Given the description of an element on the screen output the (x, y) to click on. 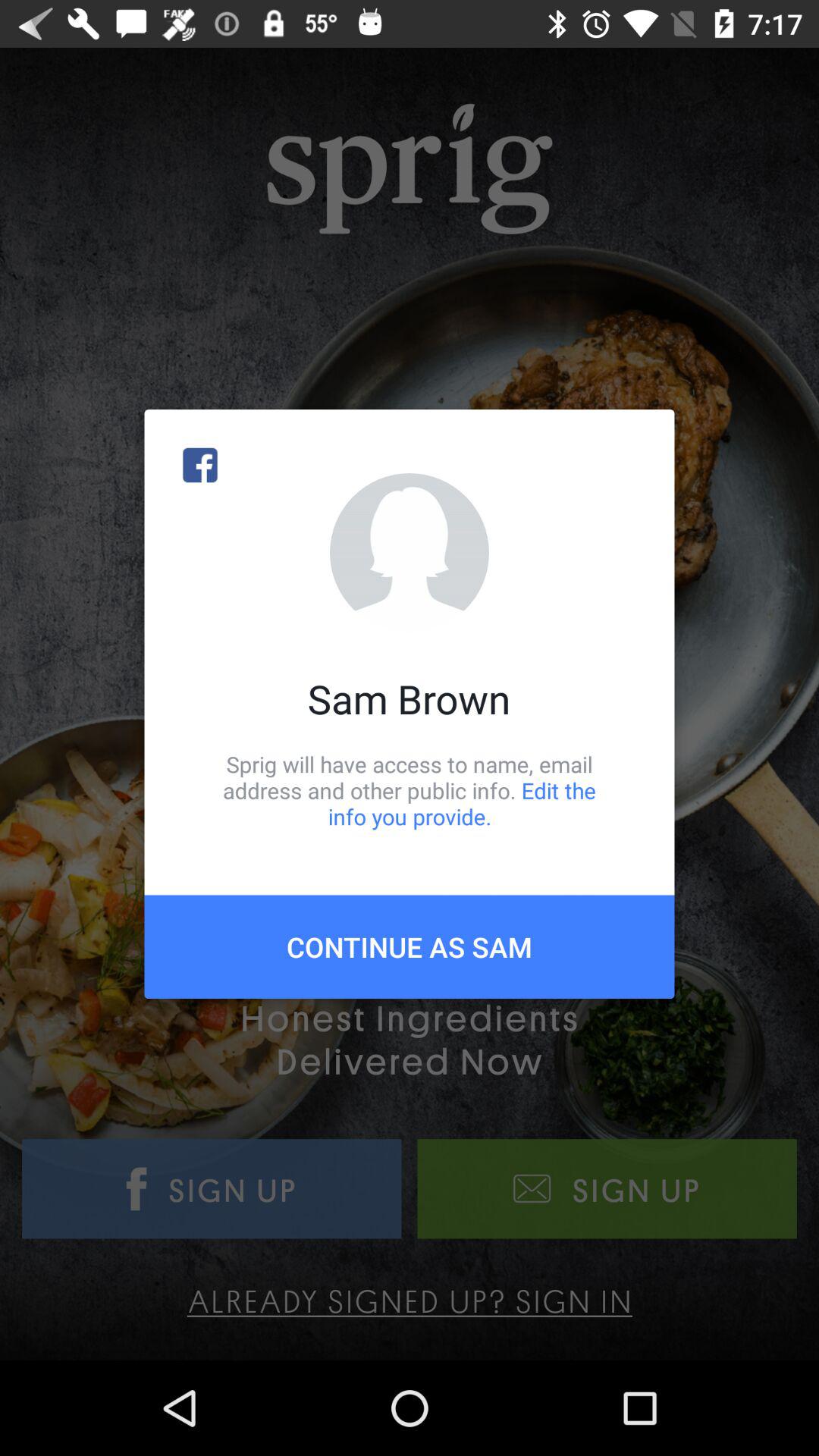
launch icon below sam brown item (409, 790)
